Given the description of an element on the screen output the (x, y) to click on. 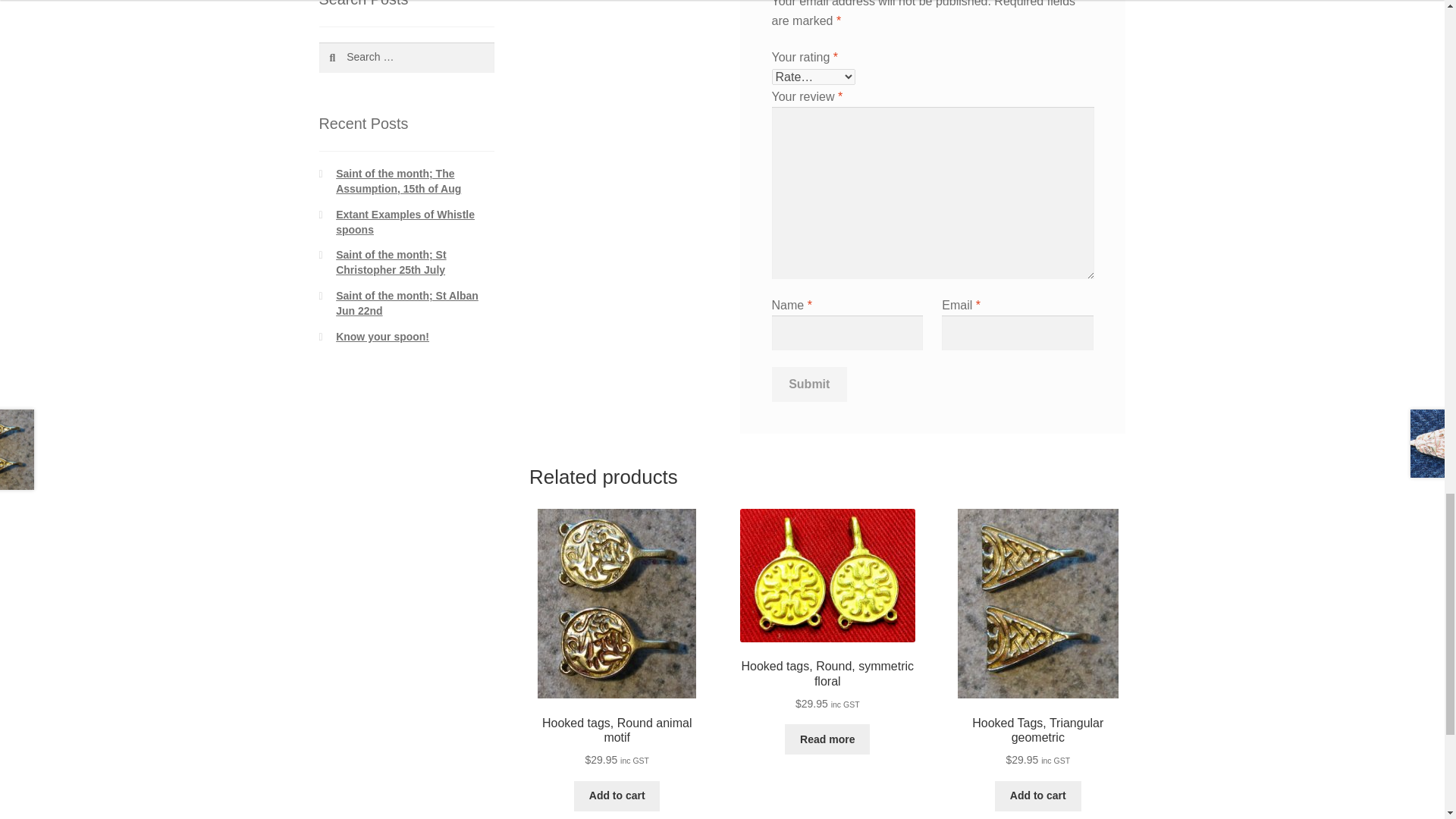
Submit (809, 384)
